Given the description of an element on the screen output the (x, y) to click on. 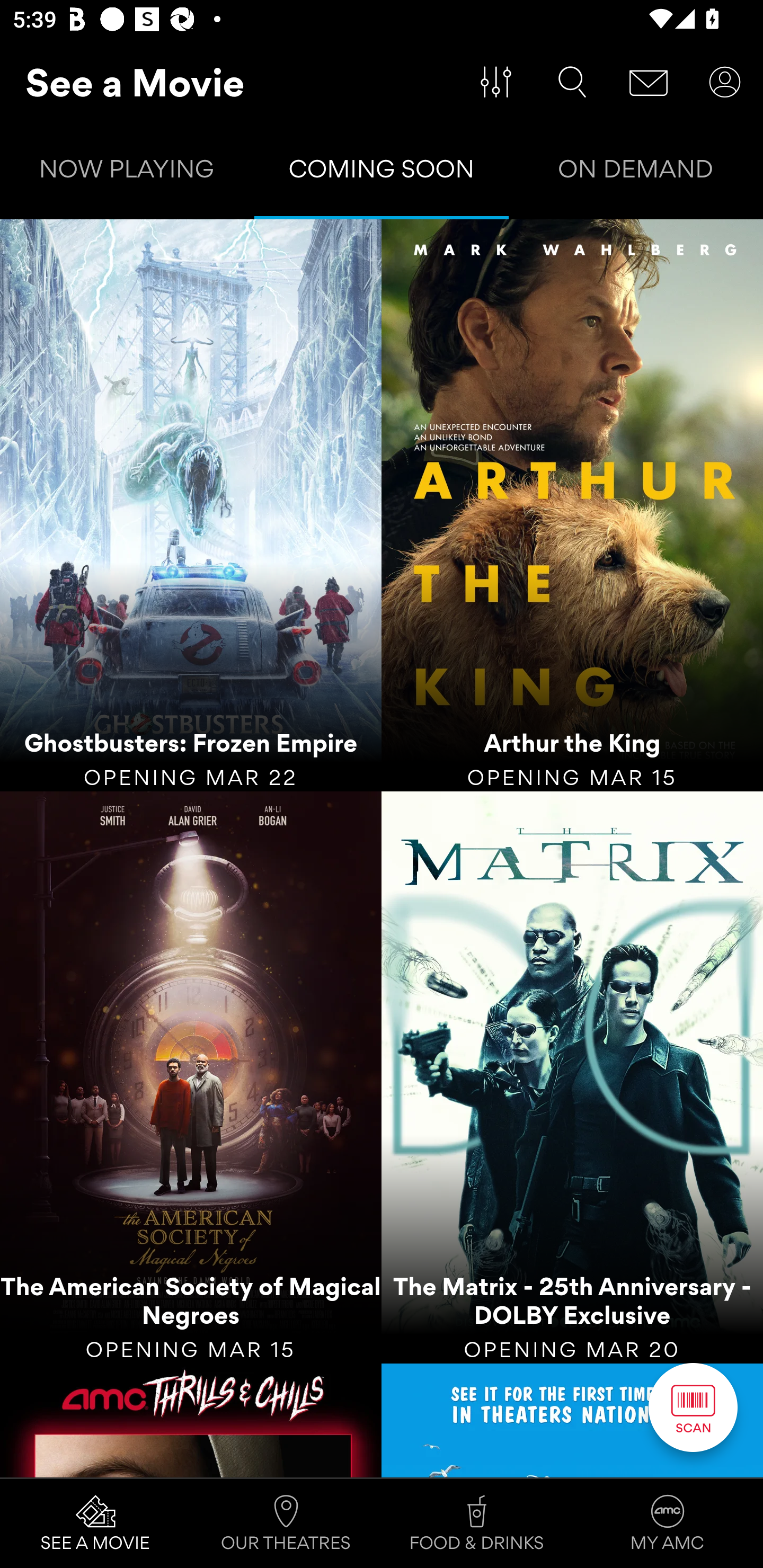
Filter Movies (495, 82)
Search (572, 82)
Message Center (648, 82)
User Account (724, 82)
NOW PLAYING
Tab 1 of 3 (127, 173)
COMING SOON
Tab 2 of 3 (381, 173)
ON DEMAND
Tab 3 of 3 (635, 173)
Ghostbusters: Frozen Empire
OPENING MAR 22 (190, 505)
Arthur the King
OPENING MAR 15 (572, 505)
Scan Button (692, 1406)
SEE A MOVIE
Tab 1 of 4 (95, 1523)
OUR THEATRES
Tab 2 of 4 (285, 1523)
FOOD & DRINKS
Tab 3 of 4 (476, 1523)
MY AMC
Tab 4 of 4 (667, 1523)
